Given the description of an element on the screen output the (x, y) to click on. 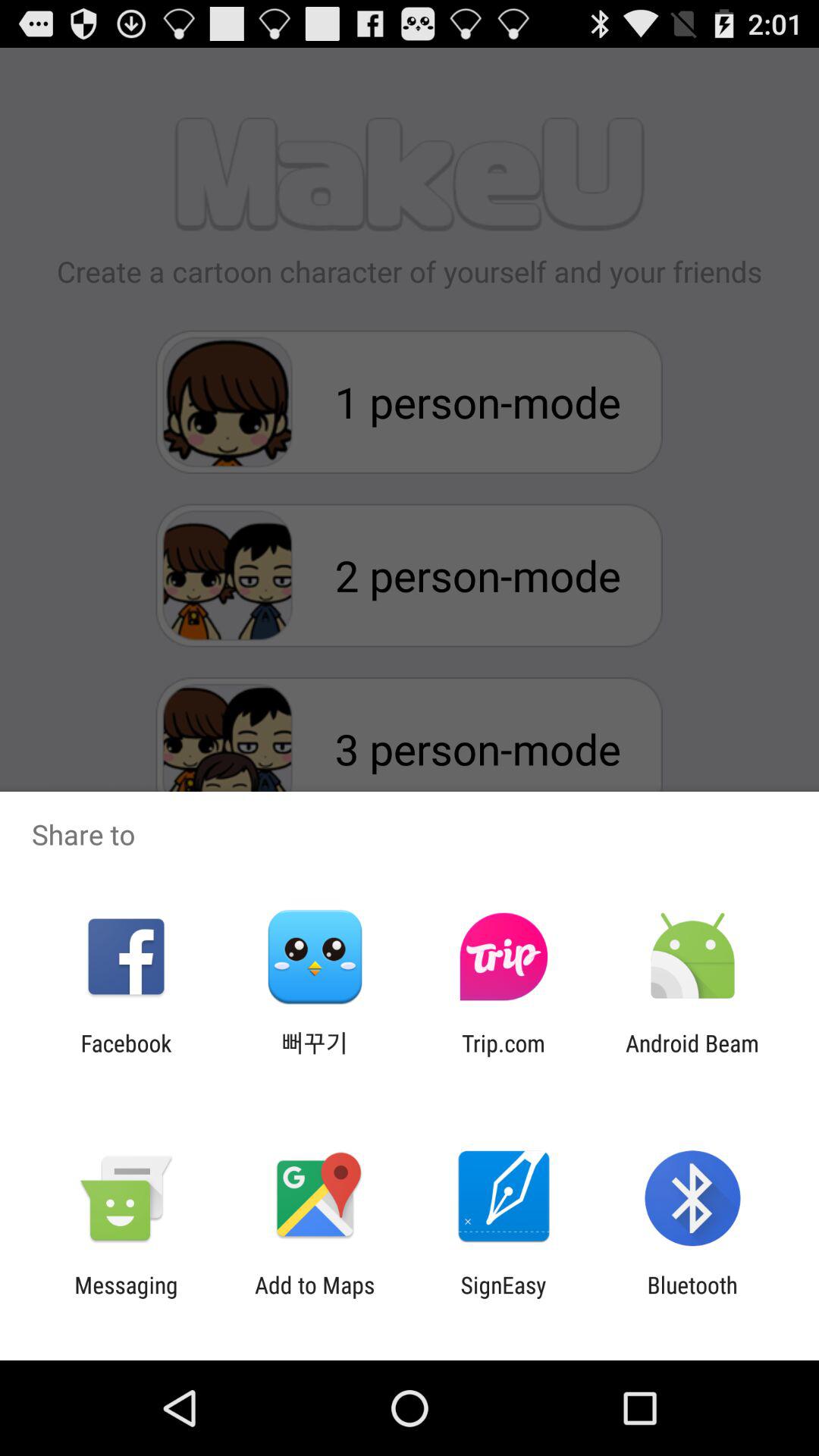
open the app next to the add to maps app (503, 1298)
